Given the description of an element on the screen output the (x, y) to click on. 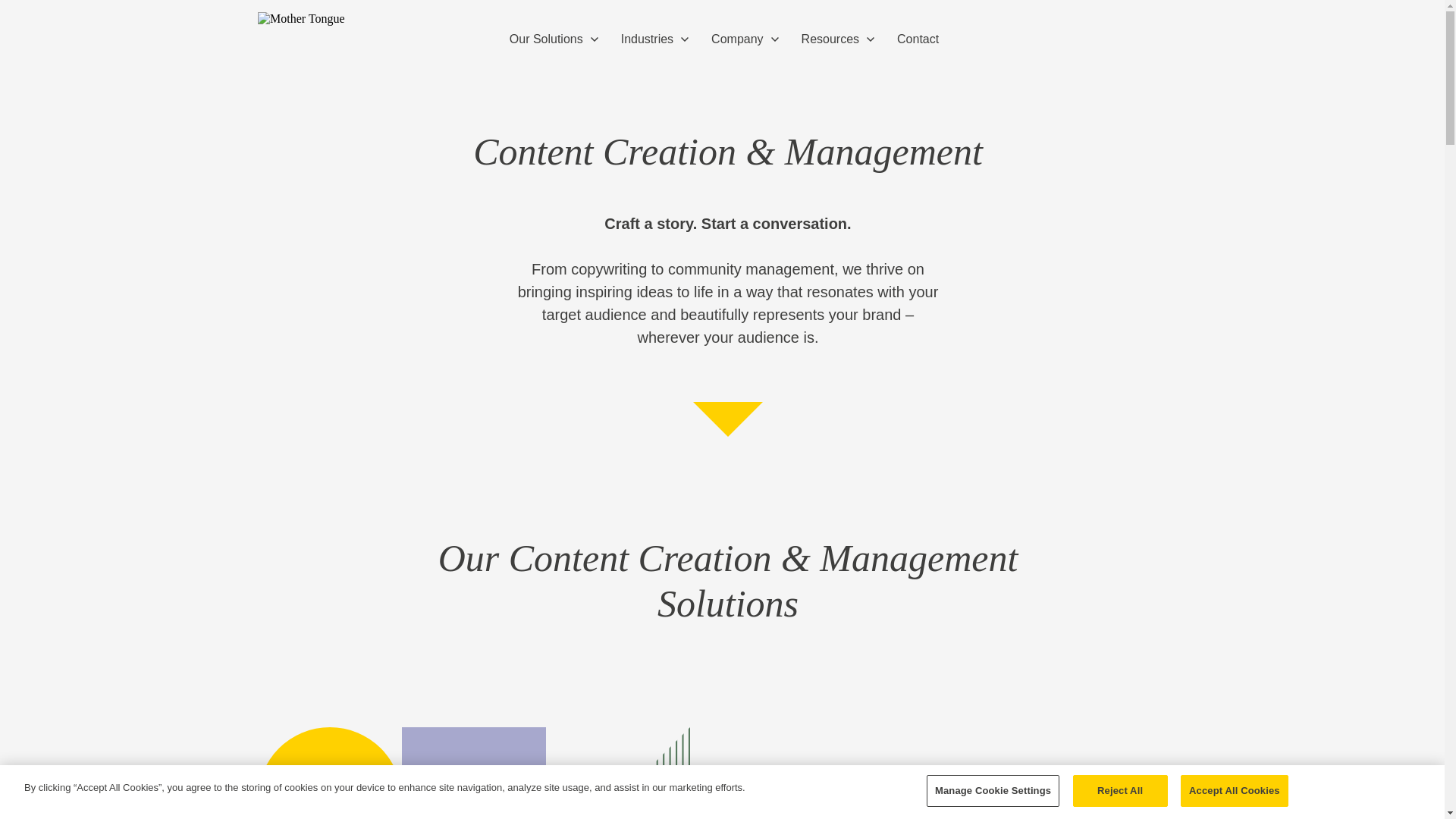
Contact (921, 39)
